Given the description of an element on the screen output the (x, y) to click on. 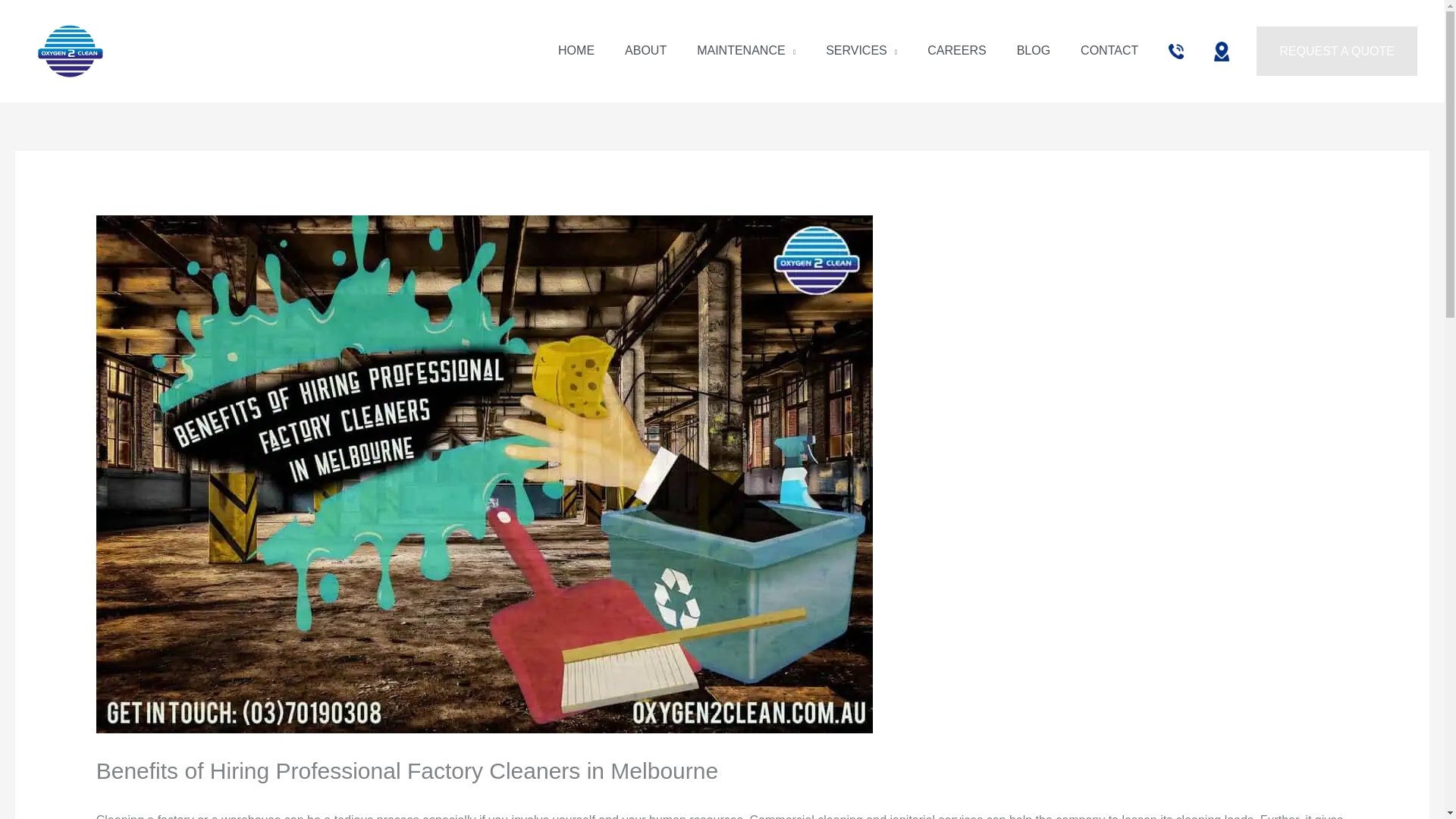
HOME (576, 50)
MAINTENANCE (745, 50)
ABOUT (645, 50)
REQUEST A QUOTE (1336, 51)
BLOG (1033, 50)
SERVICES (861, 50)
CAREERS (956, 50)
CONTACT (1109, 50)
